Given the description of an element on the screen output the (x, y) to click on. 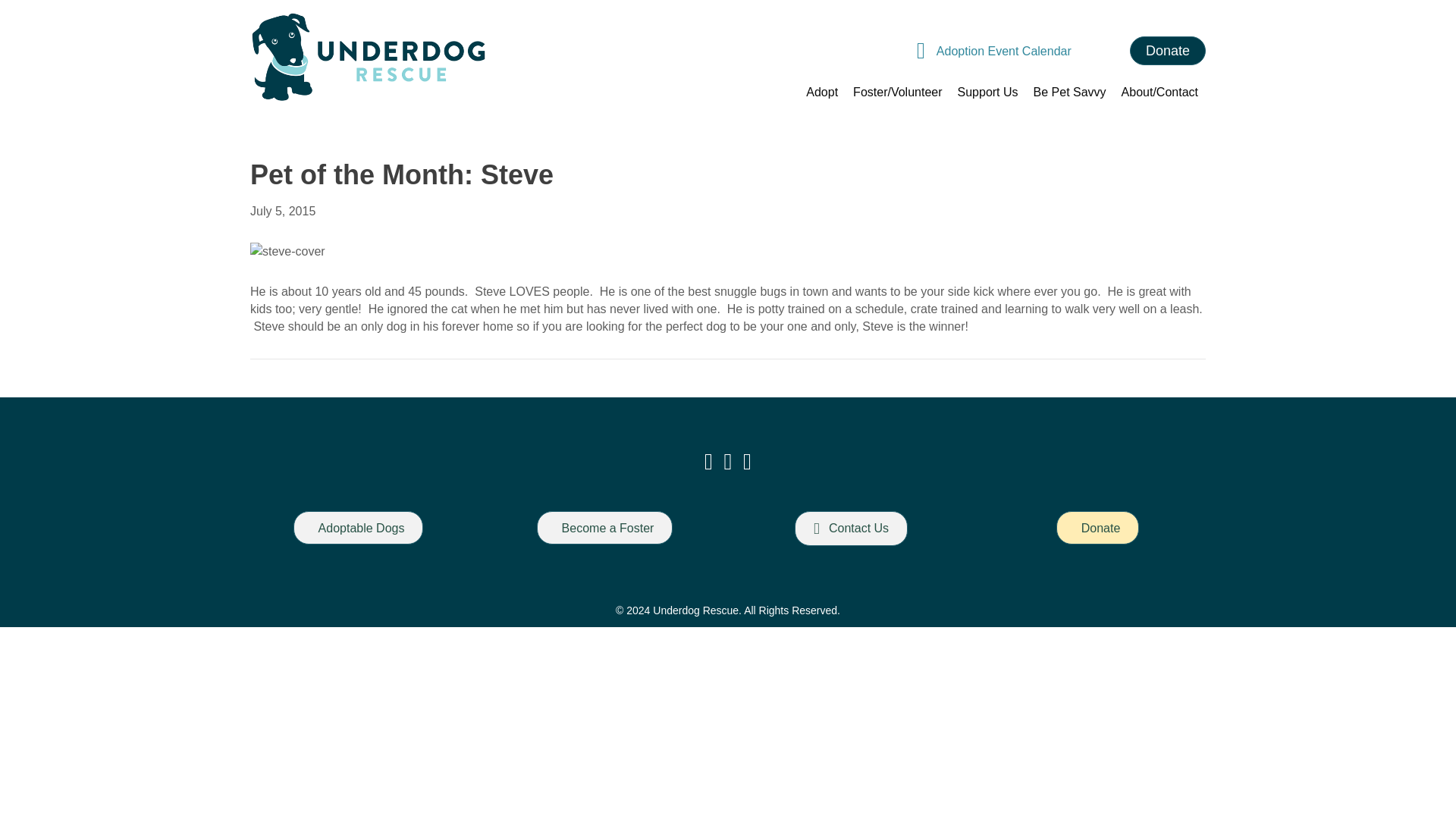
Donate (1167, 50)
Adopt (821, 92)
Support Us (988, 92)
Adoption Event Calendar (1003, 51)
Underdog-Logo-2019 (368, 57)
